Given the description of an element on the screen output the (x, y) to click on. 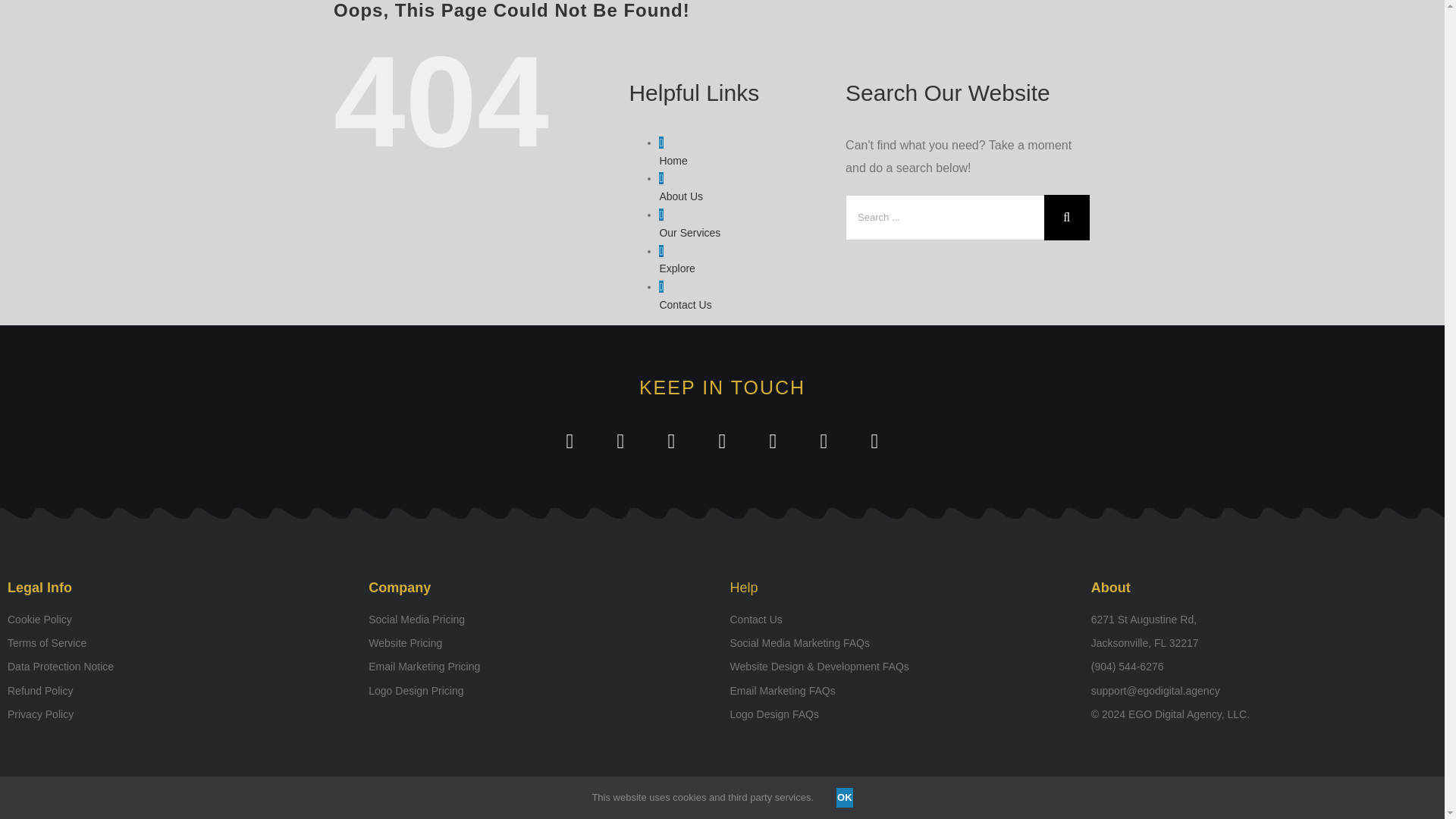
Cookie Policy (180, 619)
Email Marketing Pricing (541, 666)
Contact Us (902, 619)
Explore (676, 268)
Email Marketing FAQs (902, 690)
About Us (681, 196)
Social Media Pricing (541, 619)
Privacy Policy (180, 713)
Logo Design FAQs (902, 713)
Social Media Marketing FAQs (902, 642)
